Given the description of an element on the screen output the (x, y) to click on. 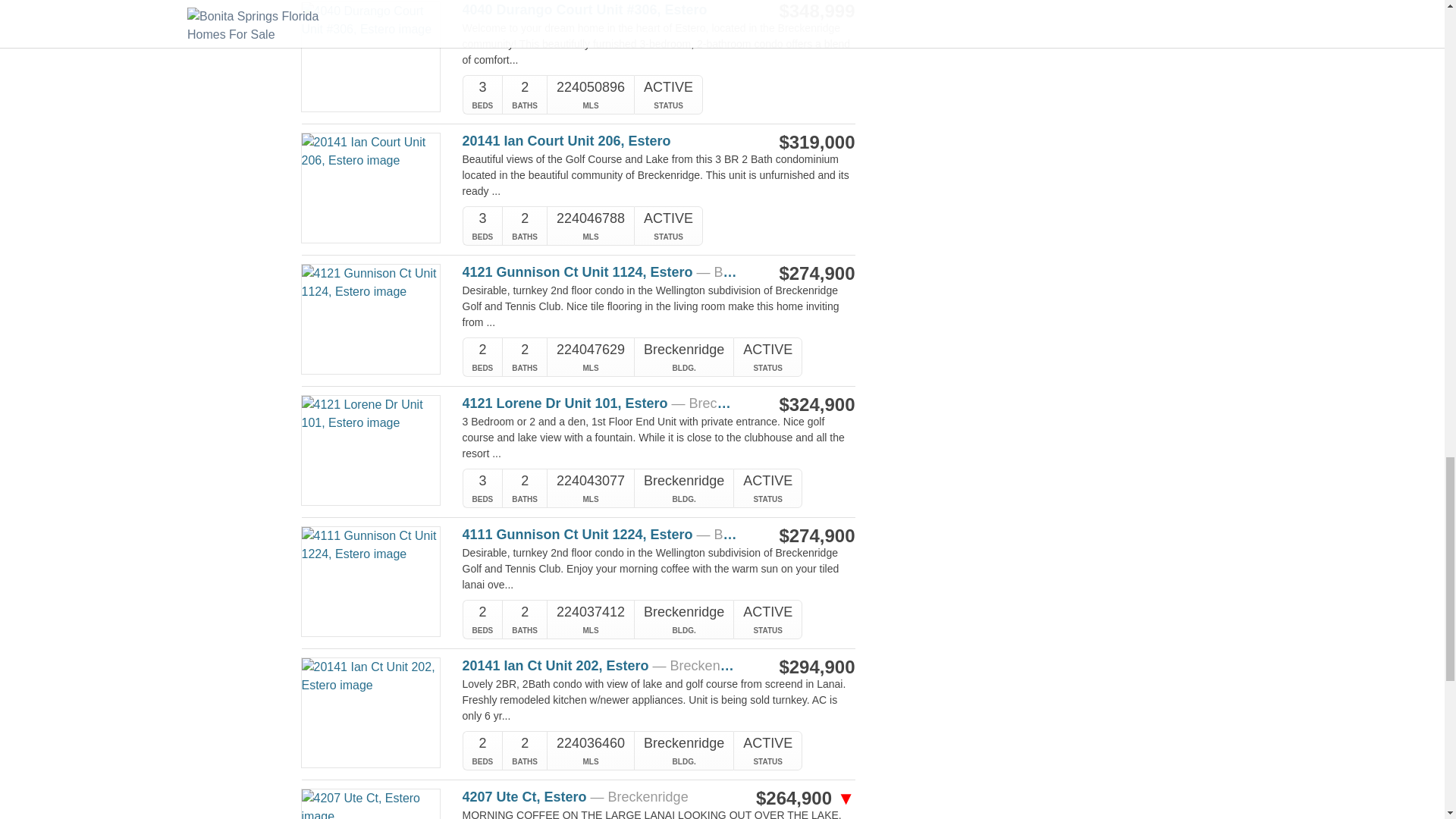
20141 Ian Court Unit 206, Estero (600, 141)
